Given the description of an element on the screen output the (x, y) to click on. 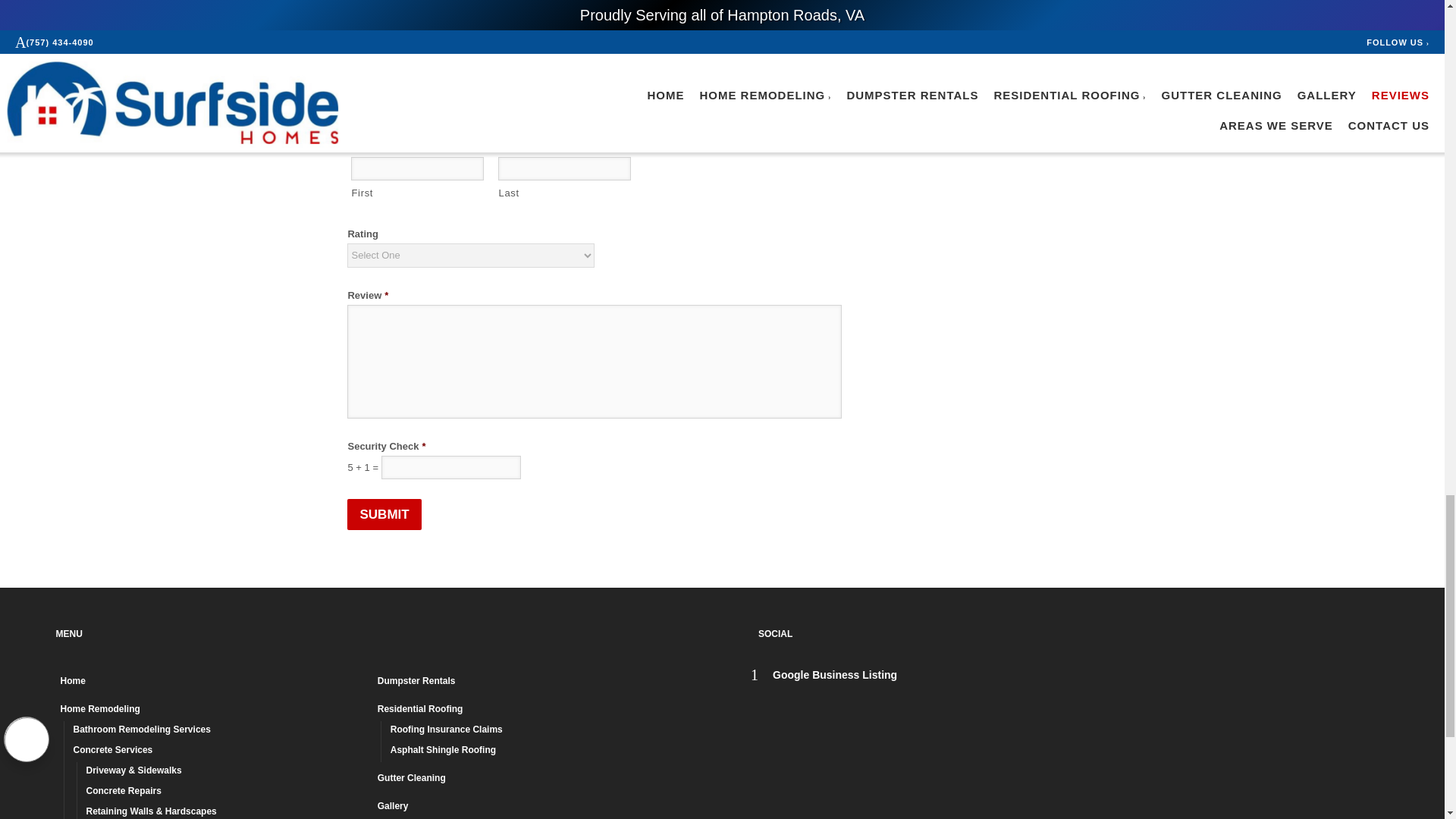
Concrete Repairs (225, 792)
Concrete Services (218, 752)
Home Remodeling (212, 711)
Bathroom Remodeling Services (218, 731)
Home (212, 682)
Submit (383, 514)
Google Business Listing (823, 674)
